Given the description of an element on the screen output the (x, y) to click on. 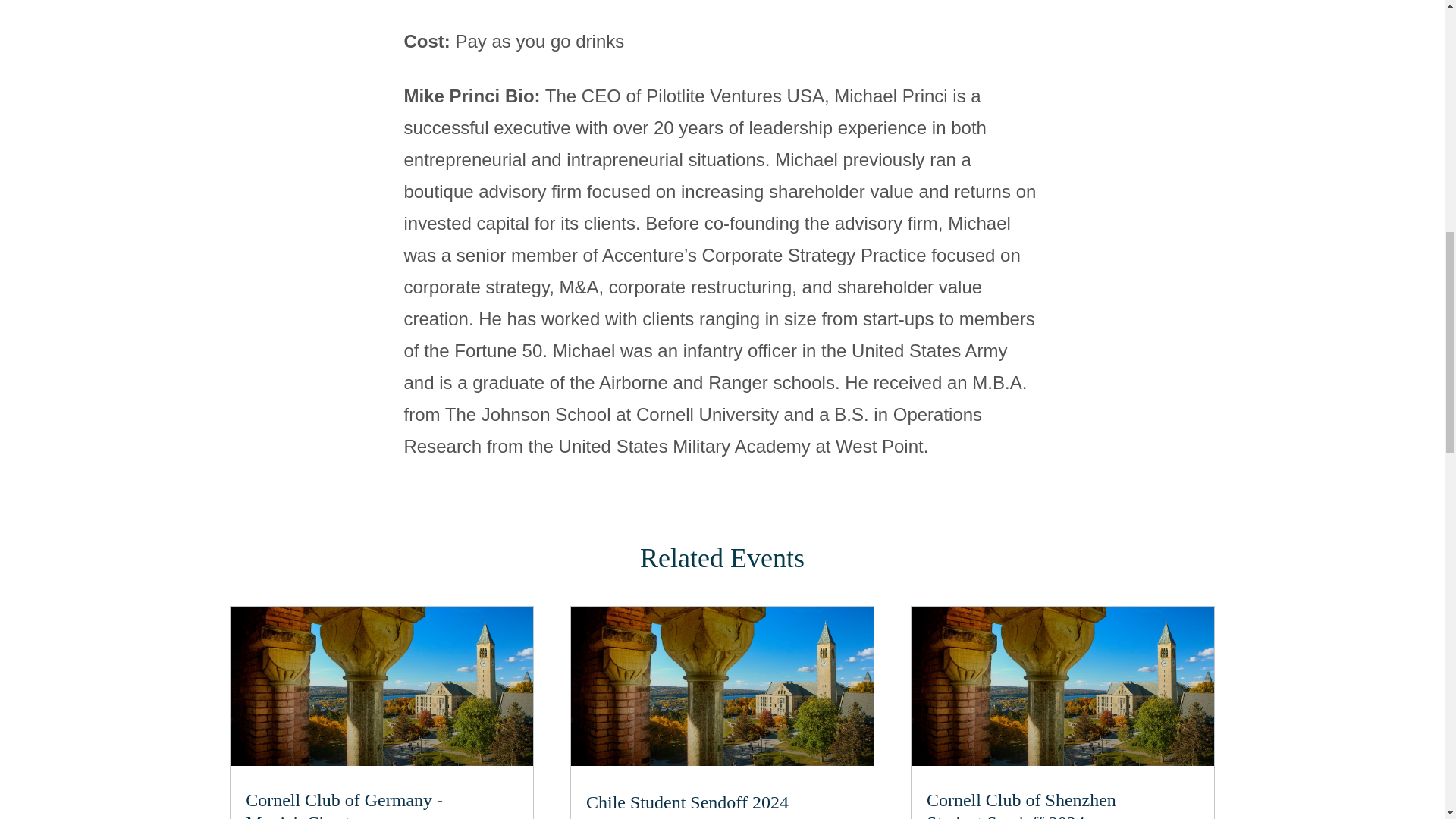
Chile Student Sendoff 2024 (1021, 804)
